Given the description of an element on the screen output the (x, y) to click on. 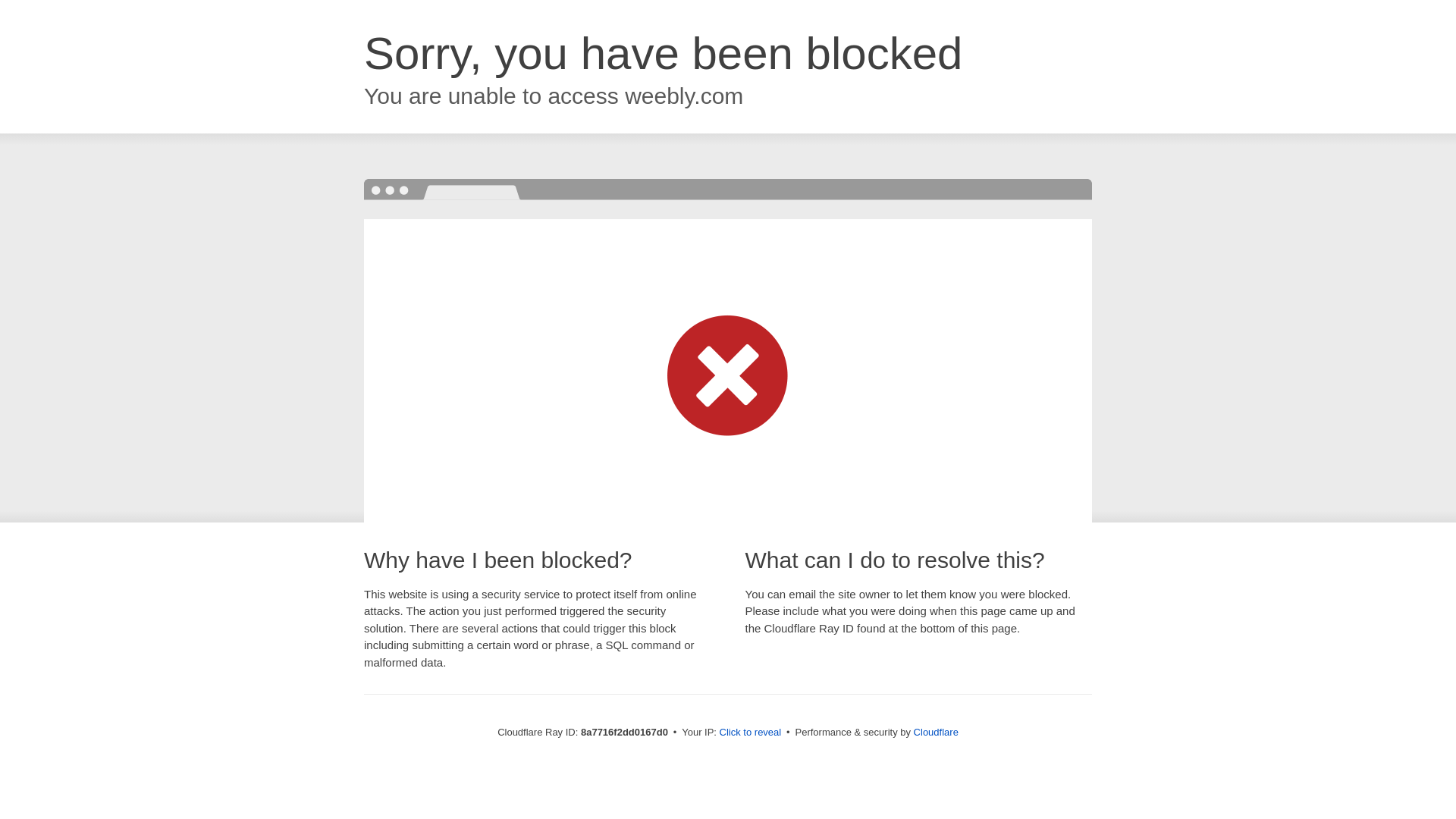
Click to reveal (750, 732)
Cloudflare (936, 731)
